Given the description of an element on the screen output the (x, y) to click on. 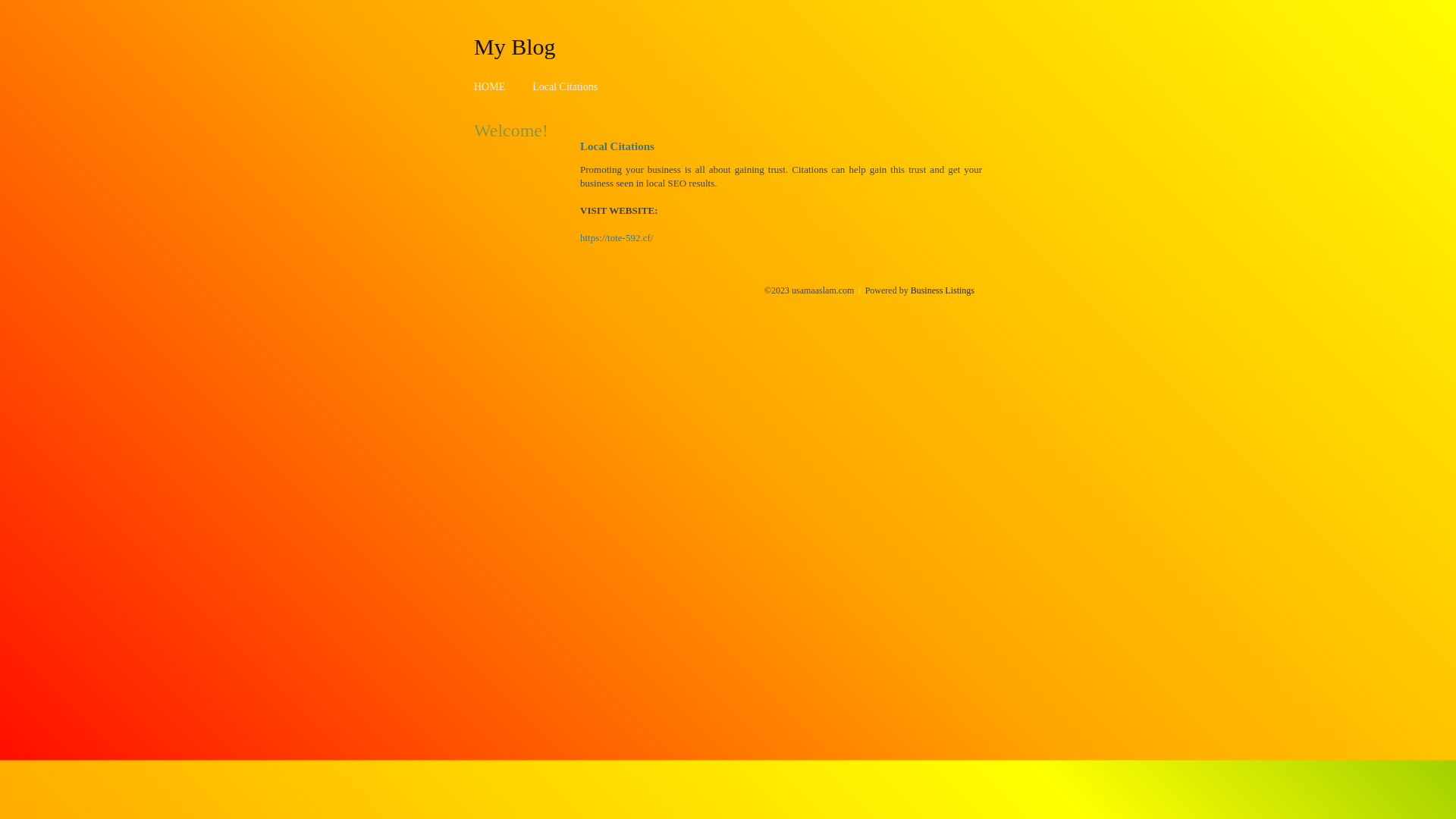
https://tote-592.cf/ Element type: text (616, 237)
HOME Element type: text (489, 86)
Business Listings Element type: text (942, 290)
My Blog Element type: text (514, 46)
Local Citations Element type: text (564, 86)
